Given the description of an element on the screen output the (x, y) to click on. 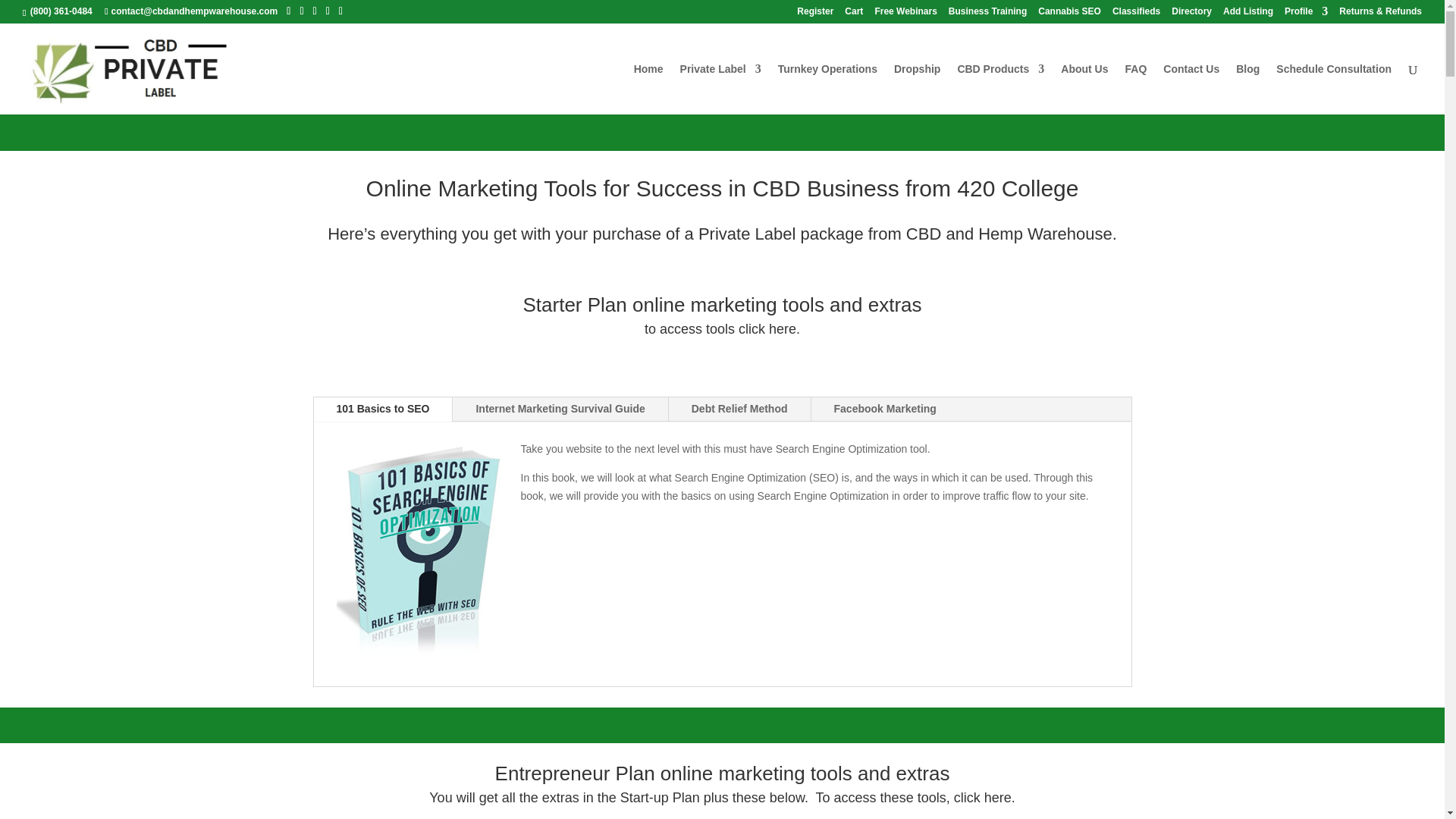
CBD Products (999, 88)
Private Label (720, 88)
Profile (1305, 14)
Turnkey Operations (827, 88)
Cart (853, 14)
Cannabis SEO (1069, 14)
Free Webinars (905, 14)
Directory (1191, 14)
Business Training (987, 14)
Contact Us (1191, 88)
Classifieds (1136, 14)
Register (814, 14)
About Us (1084, 88)
Dropship (916, 88)
Add Listing (1247, 14)
